Given the description of an element on the screen output the (x, y) to click on. 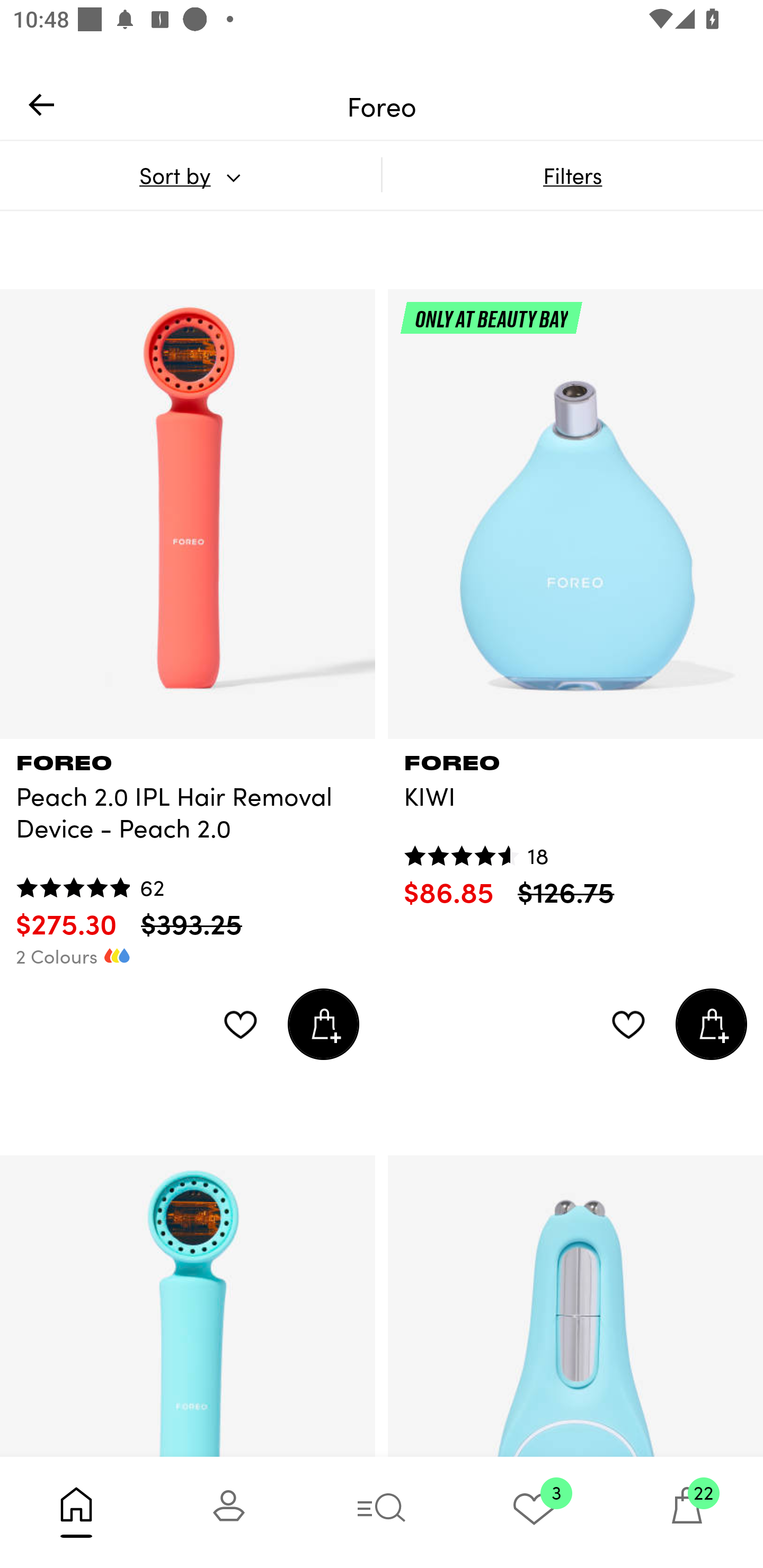
Sort by (190, 174)
Filters (572, 174)
FOREO KIWI 18 $86.85 $126.75 (575, 824)
3 (533, 1512)
22 (686, 1512)
